Given the description of an element on the screen output the (x, y) to click on. 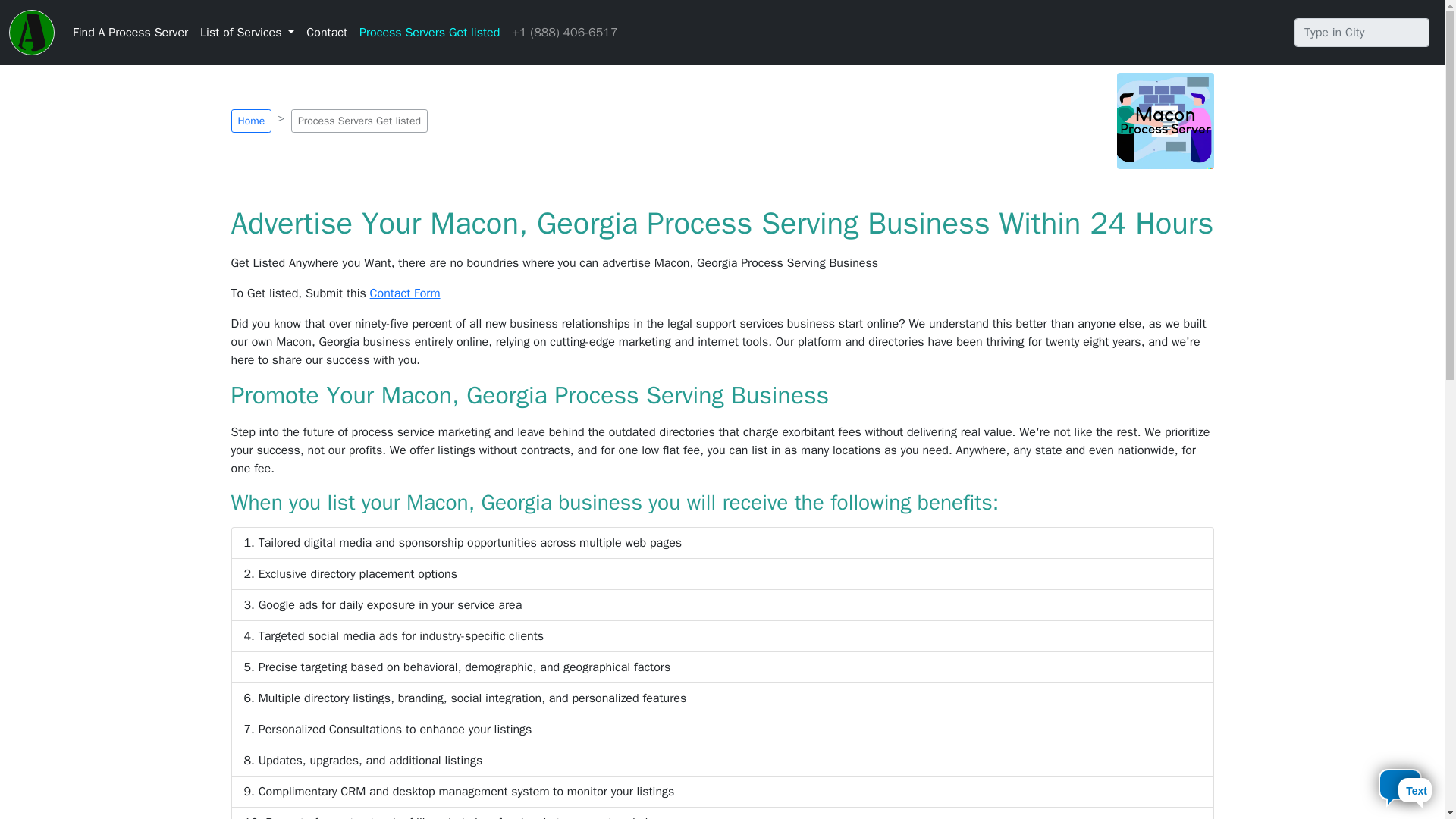
Find A Process Server (129, 32)
Home (250, 120)
List of Services (246, 32)
Contact (326, 32)
Process Servers Get listed (429, 32)
Contact Form (405, 293)
